Given the description of an element on the screen output the (x, y) to click on. 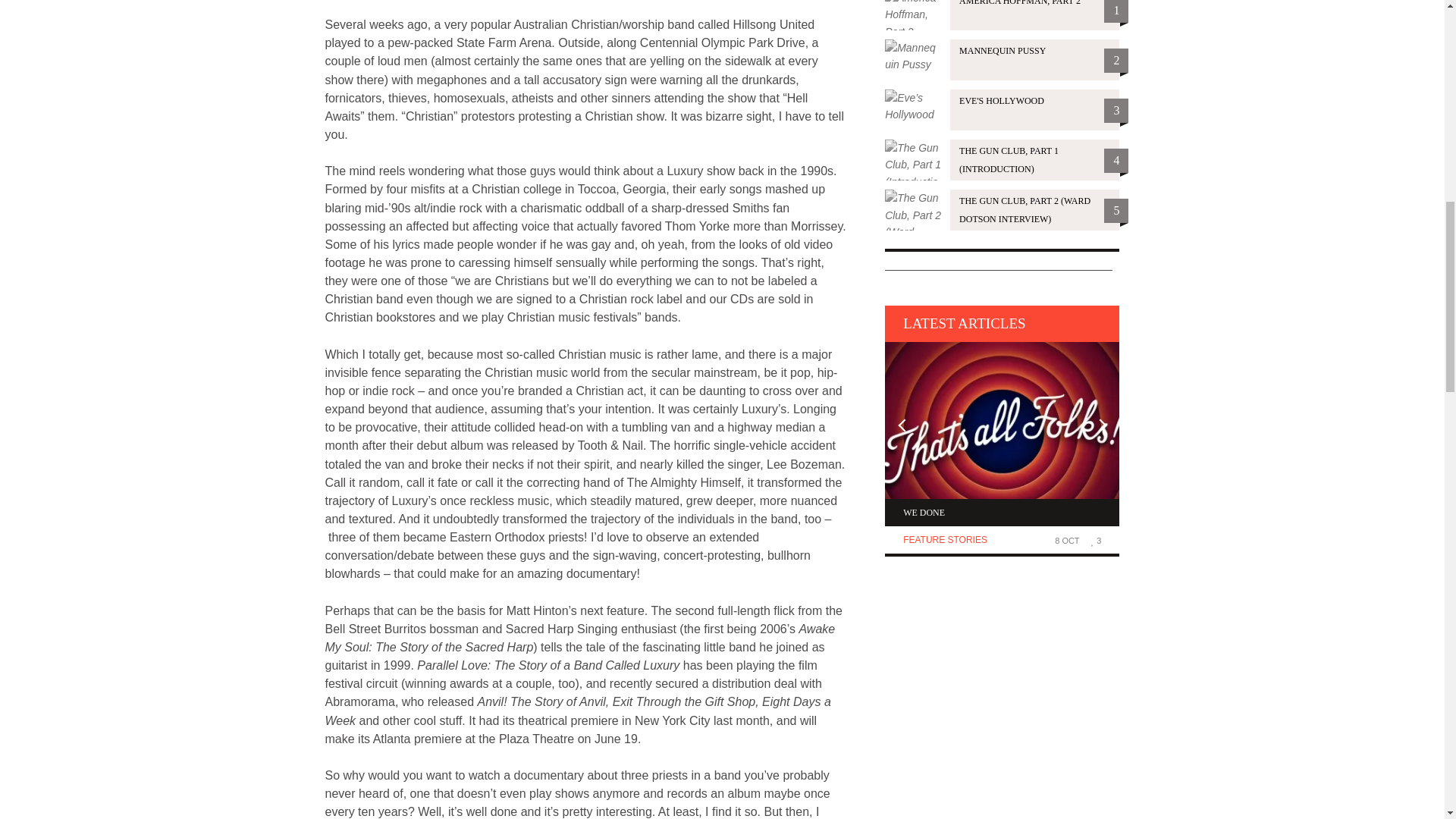
Mannequin Pussy (1002, 59)
America Hoffman, Part 2 (1002, 15)
Eve's Hollywood (1002, 109)
